Given the description of an element on the screen output the (x, y) to click on. 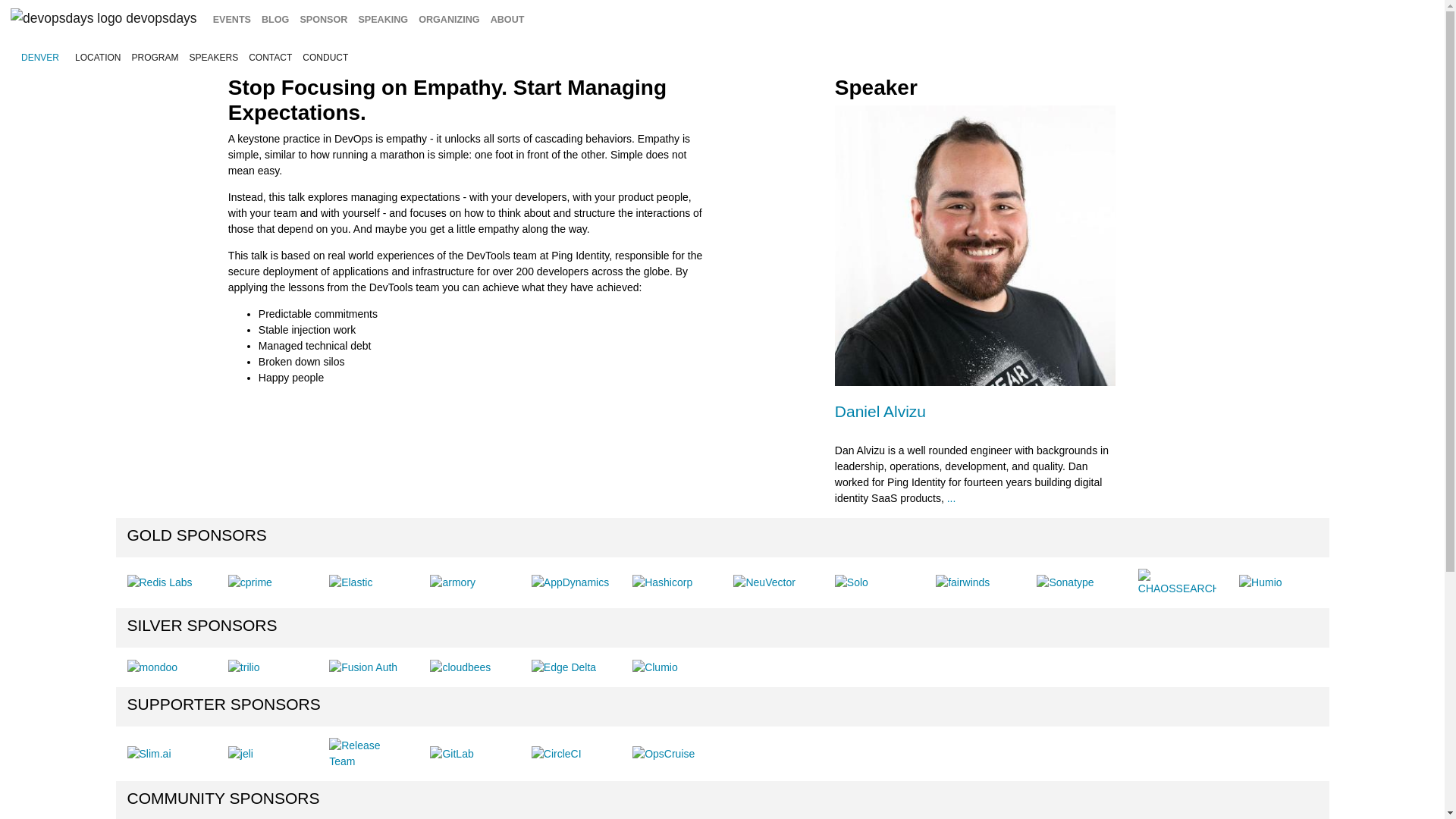
Hashicorp (662, 582)
PROGRAM (154, 57)
Daniel Alvizu (880, 411)
EVENTS (232, 19)
CONTACT (270, 57)
Clumio (654, 667)
NeuVector (763, 582)
armory (452, 582)
ORGANIZING (448, 19)
Fusion Auth (363, 667)
